Given the description of an element on the screen output the (x, y) to click on. 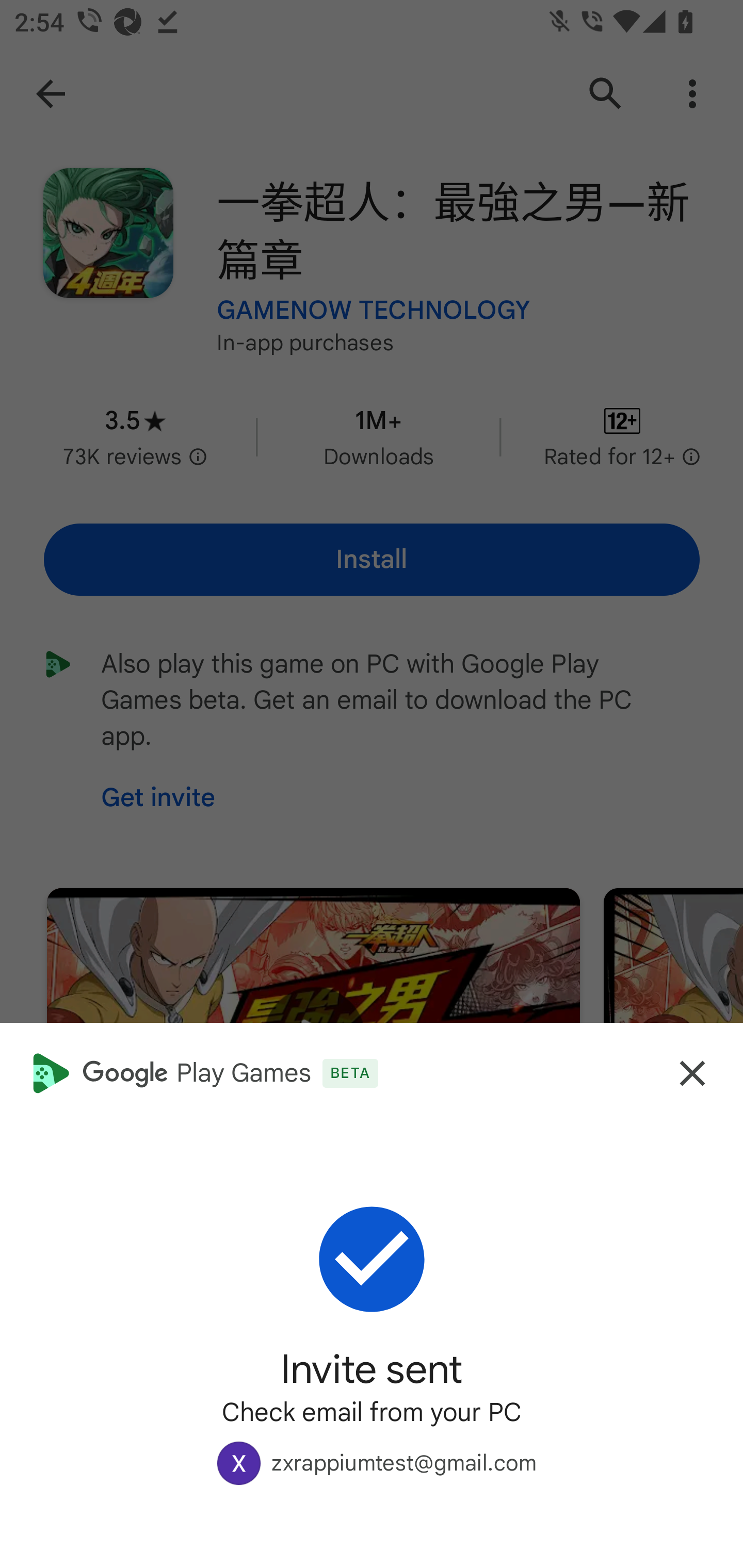
Close (692, 1073)
